Given the description of an element on the screen output the (x, y) to click on. 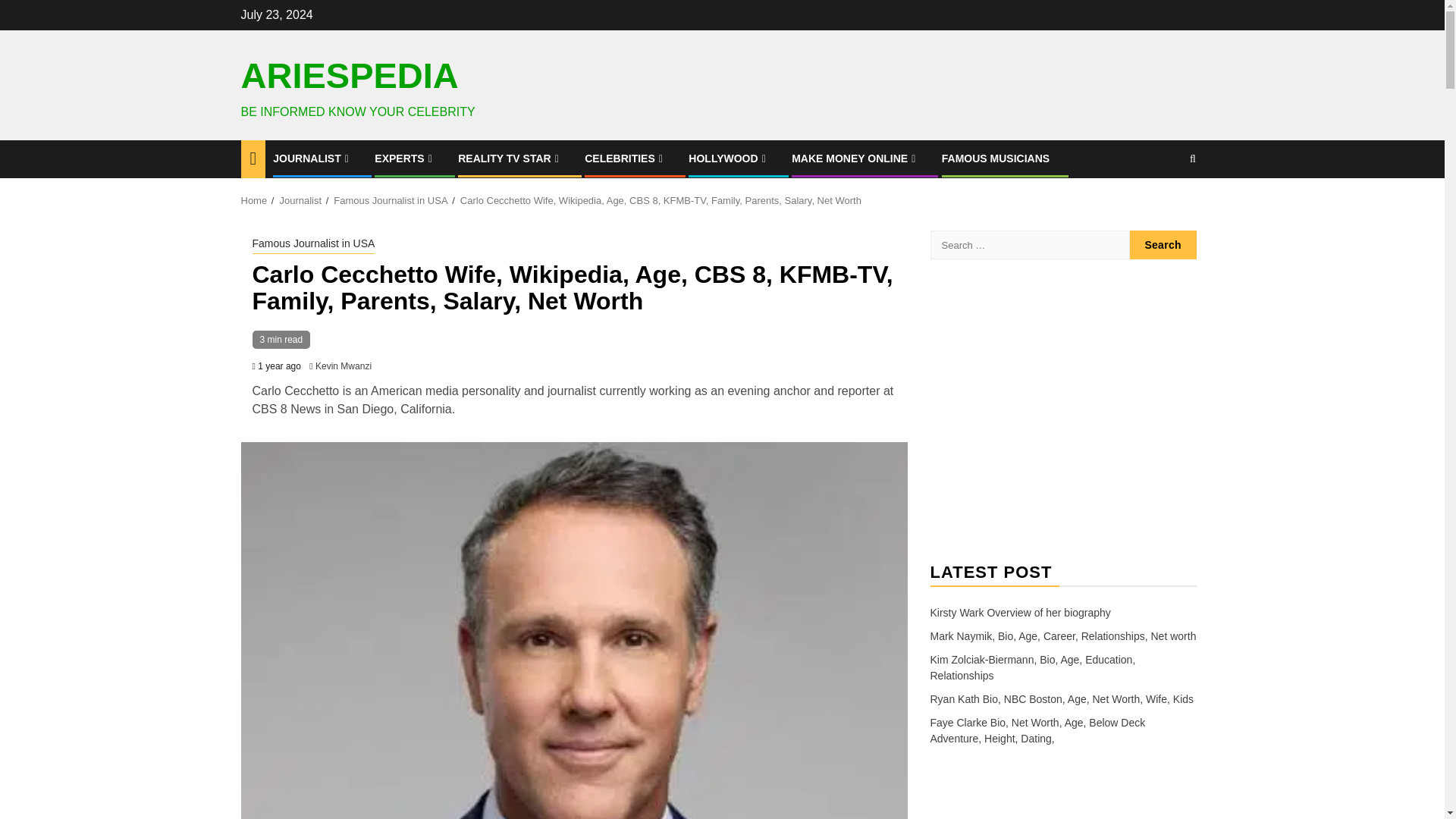
Home (254, 199)
HOLLYWOOD (728, 157)
Advertisement (1062, 805)
CELEBRITIES (625, 157)
REALITY TV STAR (510, 157)
ARIESPEDIA (349, 75)
FAMOUS MUSICIANS (995, 157)
EXPERTS (404, 157)
JOURNALIST (312, 157)
MAKE MONEY ONLINE (855, 157)
Search (1162, 244)
Journalist (300, 199)
Advertisement (1062, 409)
Search (1163, 205)
Search (1162, 244)
